Given the description of an element on the screen output the (x, y) to click on. 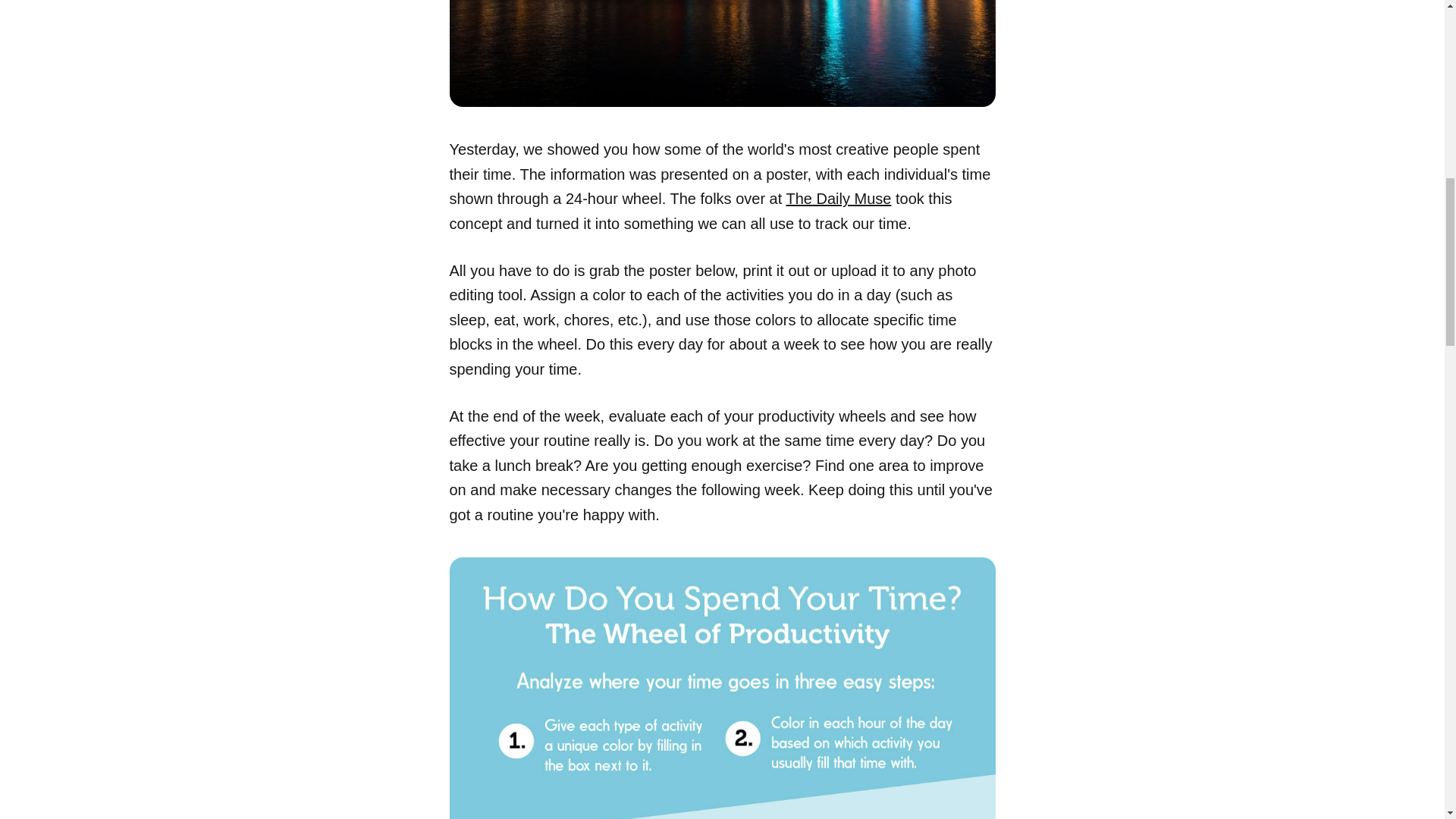
The Daily Muse (838, 198)
